Given the description of an element on the screen output the (x, y) to click on. 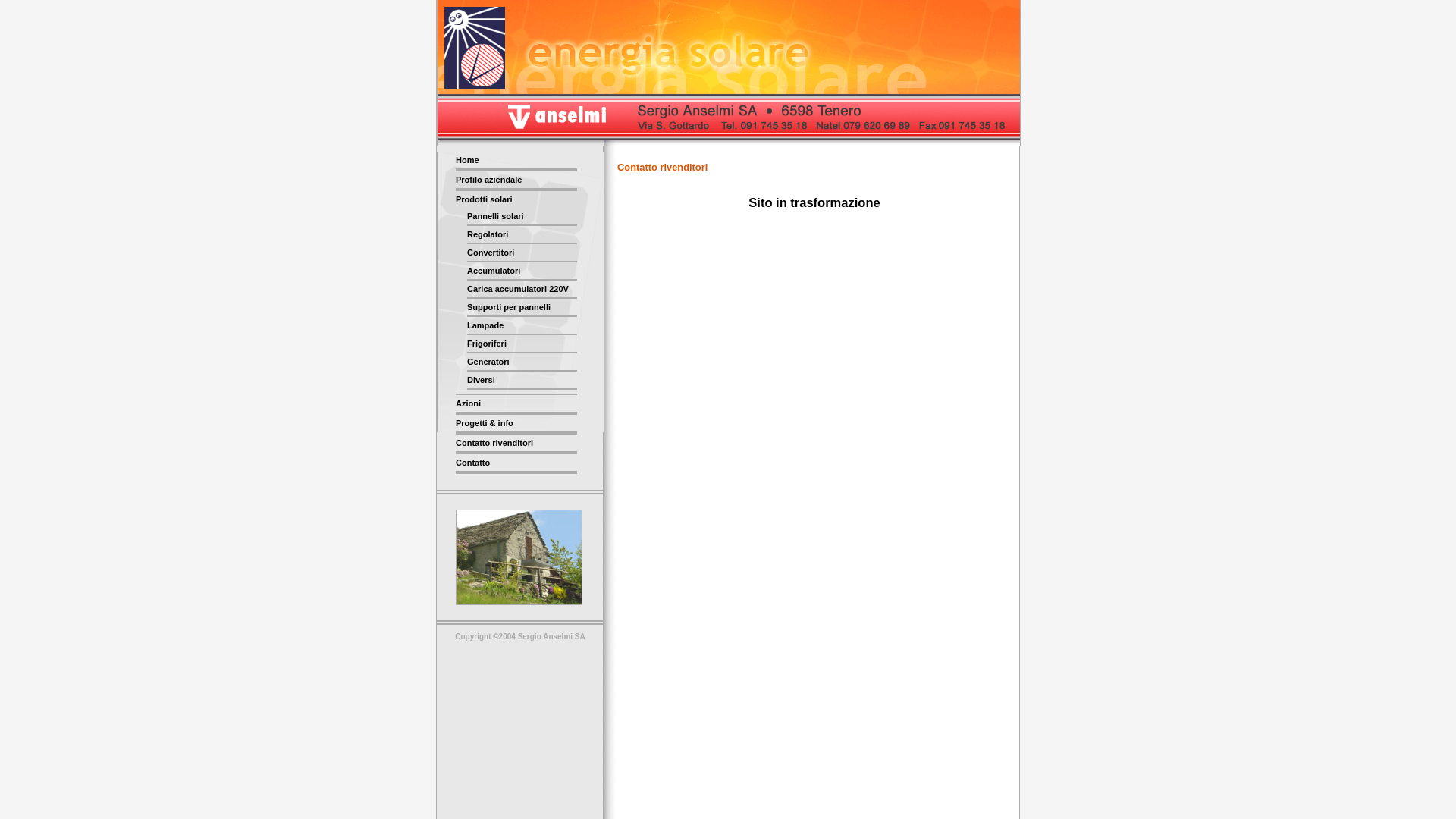
Lampade Element type: text (522, 325)
Diversi Element type: text (522, 380)
Regolatori Element type: text (522, 234)
Profilo aziendale Element type: text (516, 180)
Carica accumulatori 220V Element type: text (522, 289)
Frigoriferi Element type: text (522, 344)
Convertitori Element type: text (522, 253)
Contatto rivenditori Element type: text (516, 443)
Azioni Element type: text (516, 404)
Pannelli solari Element type: text (522, 216)
Progetti & info Element type: text (516, 423)
Home Element type: text (516, 160)
Supporti per pannelli Element type: text (522, 307)
Generatori Element type: text (522, 362)
Accumulatori Element type: text (522, 271)
Contatto Element type: text (516, 463)
